Given the description of an element on the screen output the (x, y) to click on. 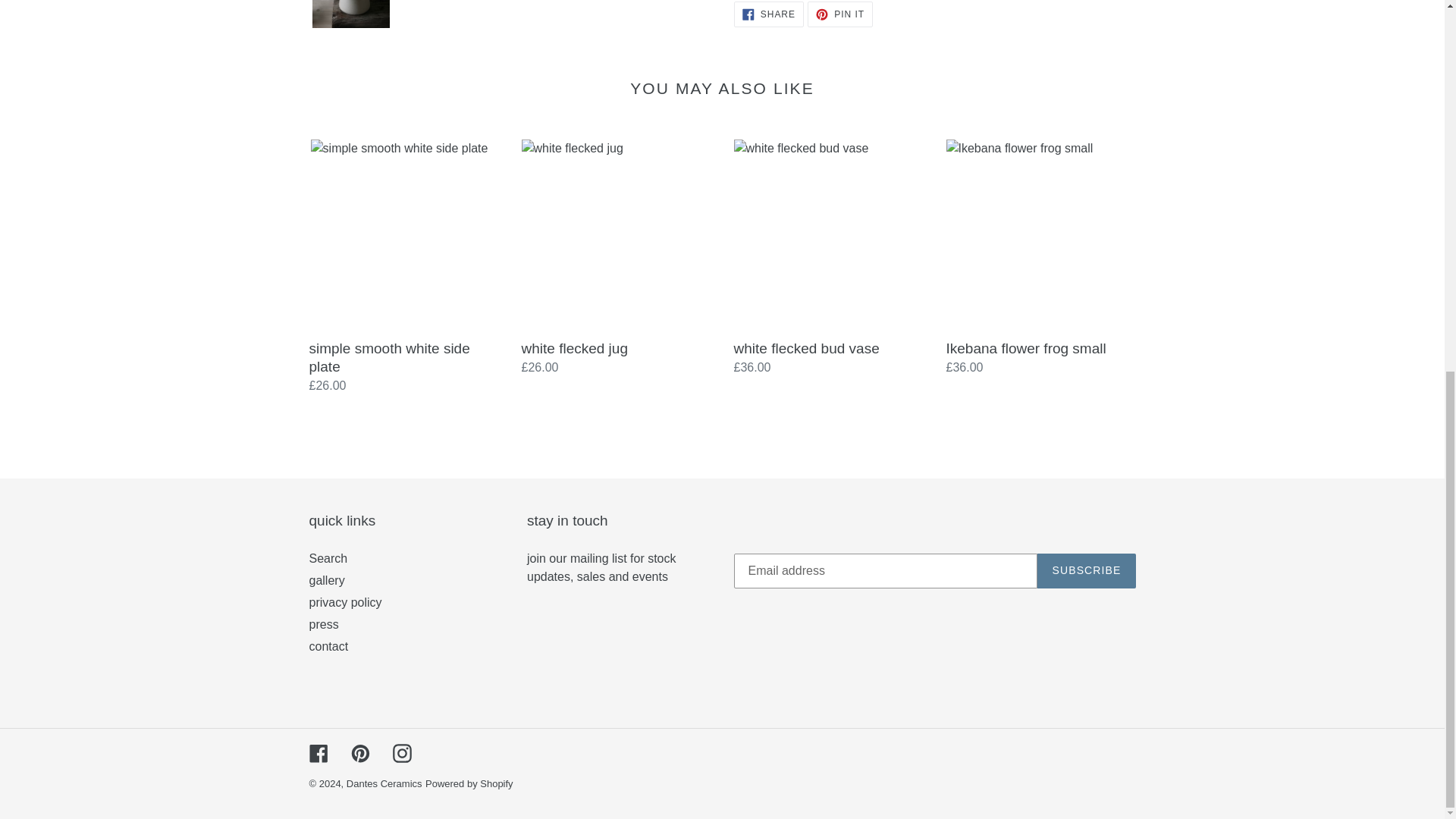
Pinterest (359, 752)
press (768, 14)
contact (323, 624)
SUBSCRIBE (328, 645)
Search (1085, 570)
gallery (327, 558)
privacy policy (326, 580)
Facebook (344, 602)
